Given the description of an element on the screen output the (x, y) to click on. 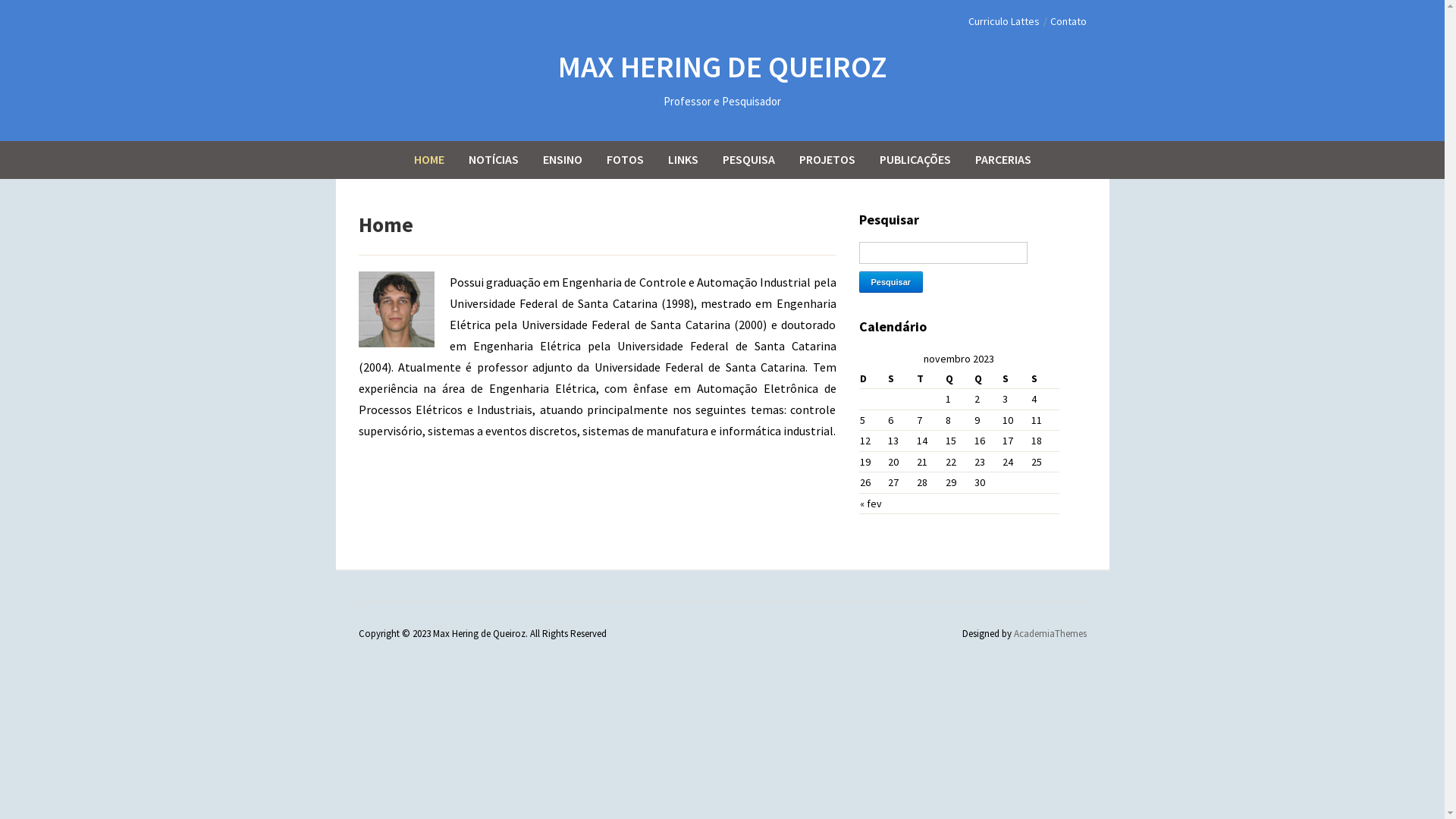
AcademiaThemes Element type: text (1049, 633)
FOTOS Element type: text (624, 159)
LINKS Element type: text (682, 159)
PARCERIAS Element type: text (1002, 159)
PESQUISA Element type: text (748, 159)
ENSINO Element type: text (561, 159)
Curriculo Lattes Element type: text (1002, 21)
PROJETOS Element type: text (826, 159)
Contato Element type: text (1067, 21)
MAX HERING DE QUEIROZ Element type: text (722, 66)
HOME Element type: text (428, 159)
Pesquisar Element type: text (890, 281)
